Given the description of an element on the screen output the (x, y) to click on. 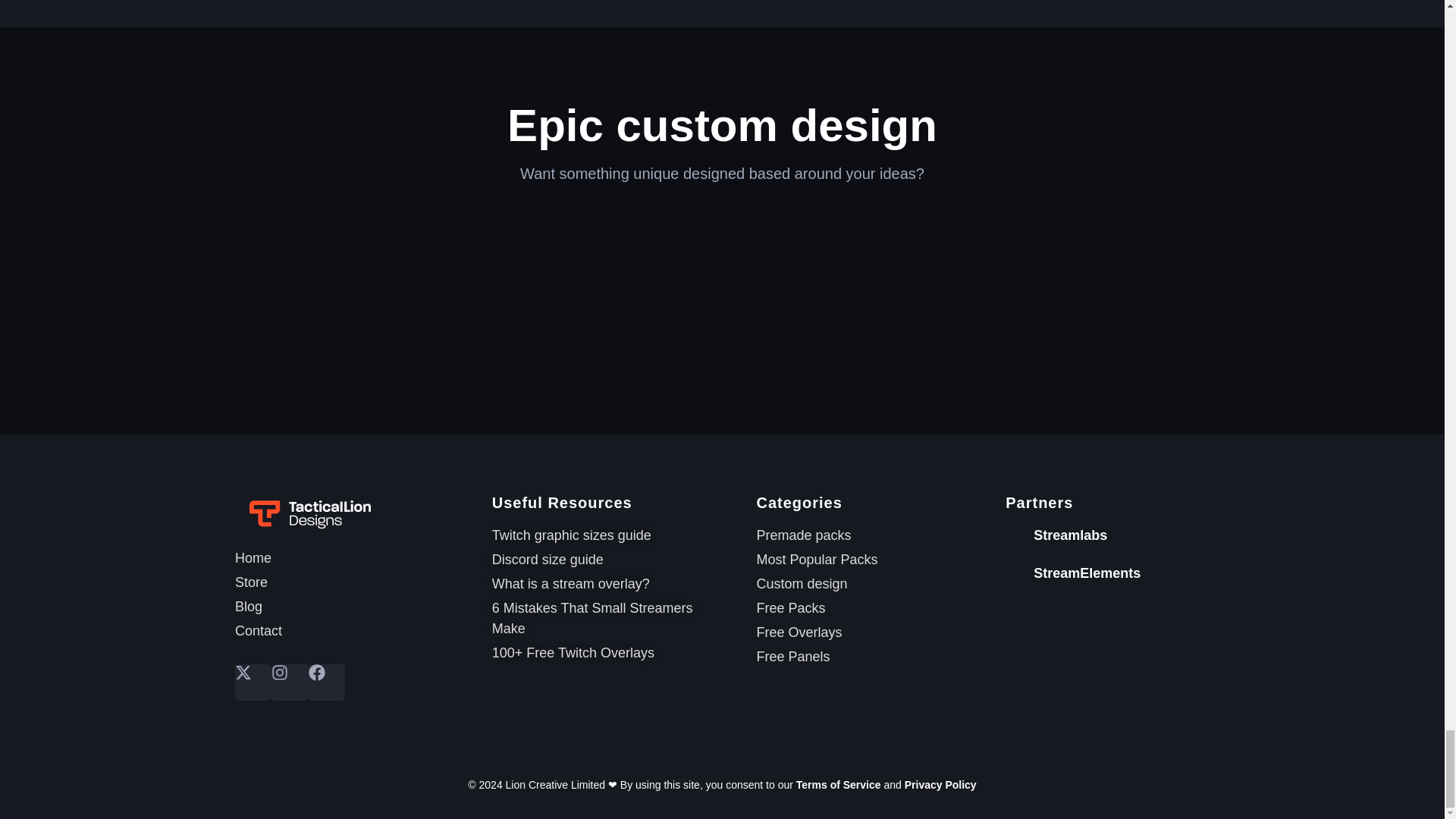
Blog (355, 607)
Contact (355, 630)
Home (355, 557)
Store (355, 582)
